Given the description of an element on the screen output the (x, y) to click on. 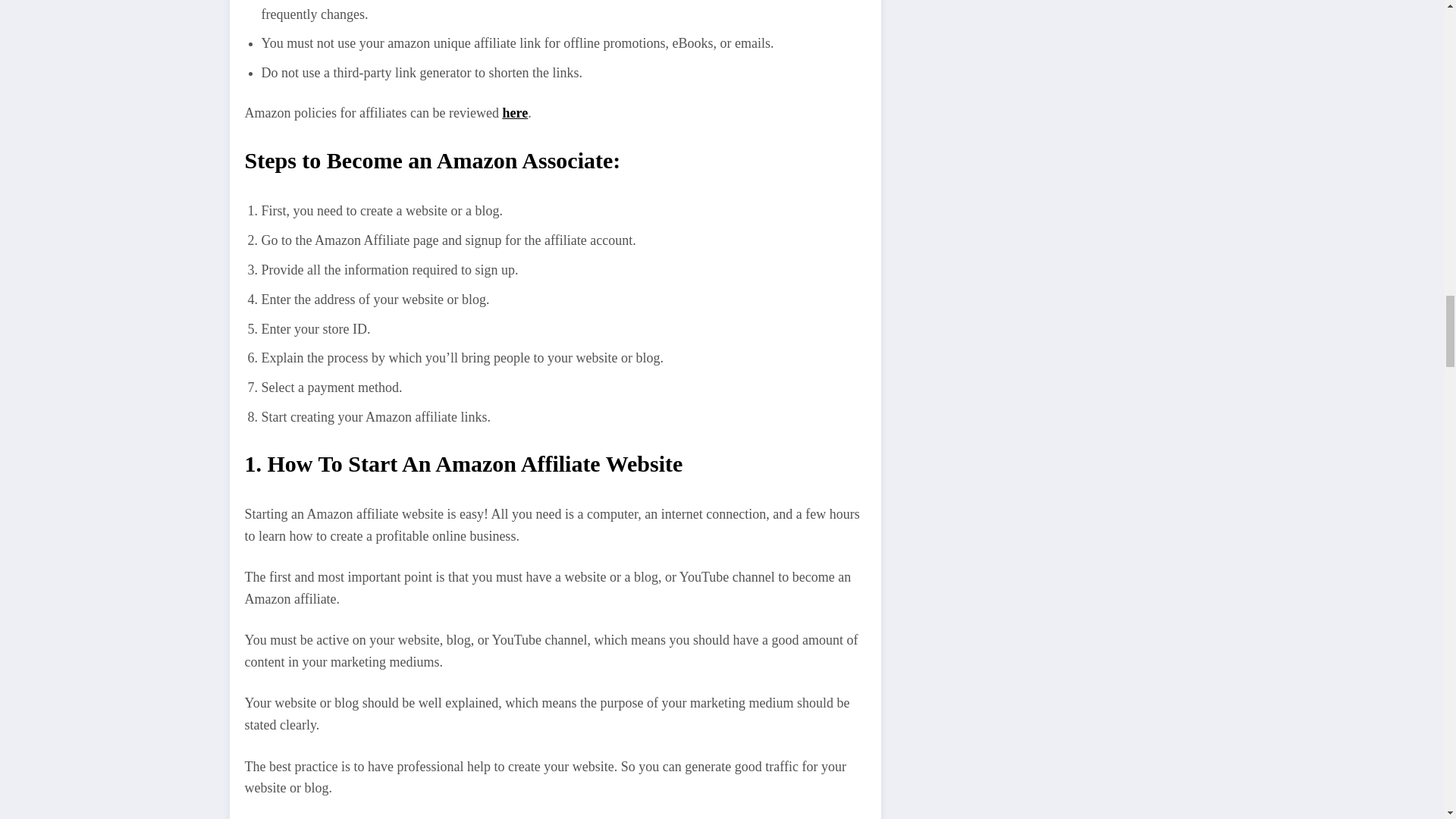
here (515, 112)
